Given the description of an element on the screen output the (x, y) to click on. 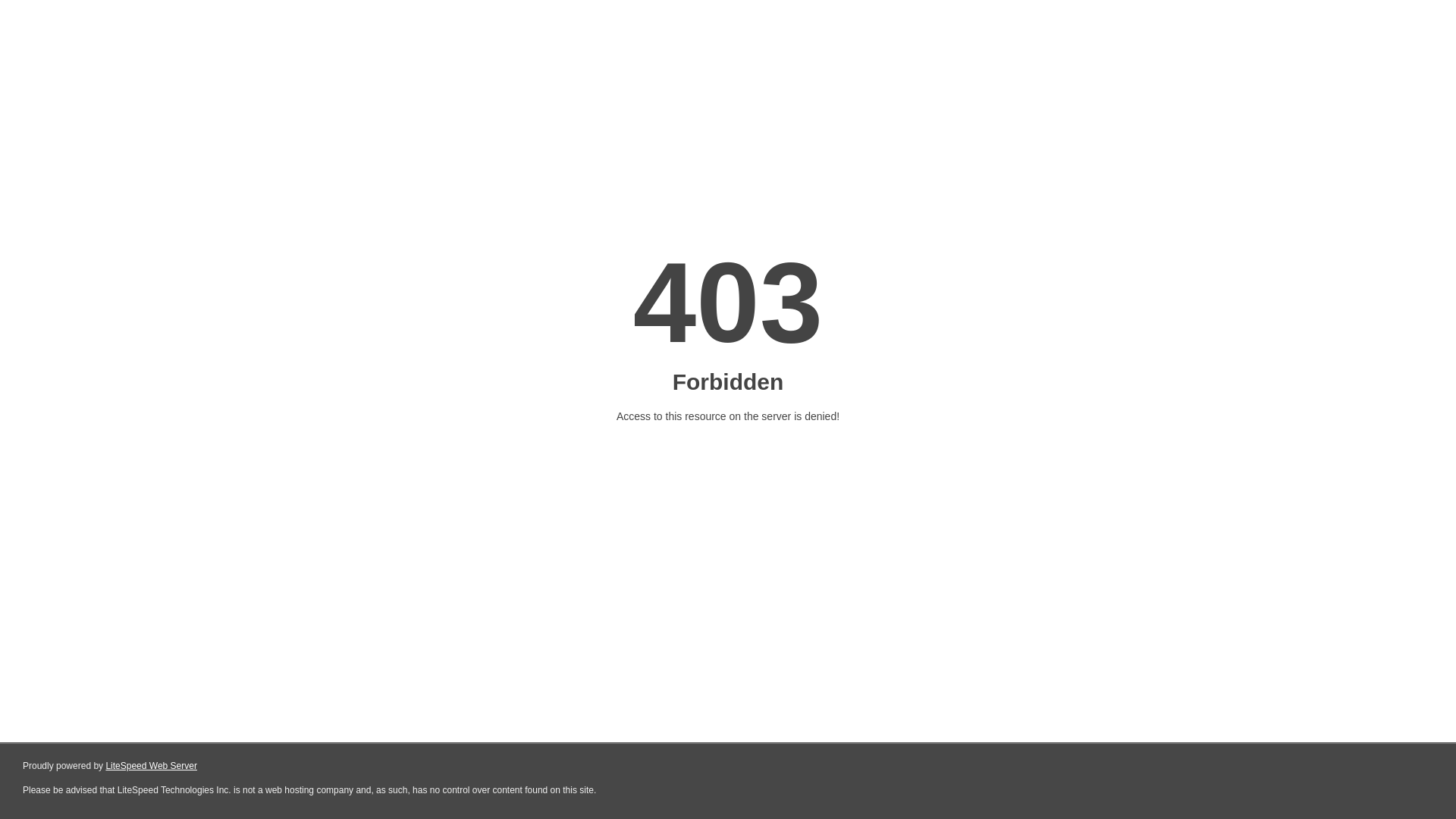
LiteSpeed Web Server Element type: text (151, 765)
